Given the description of an element on the screen output the (x, y) to click on. 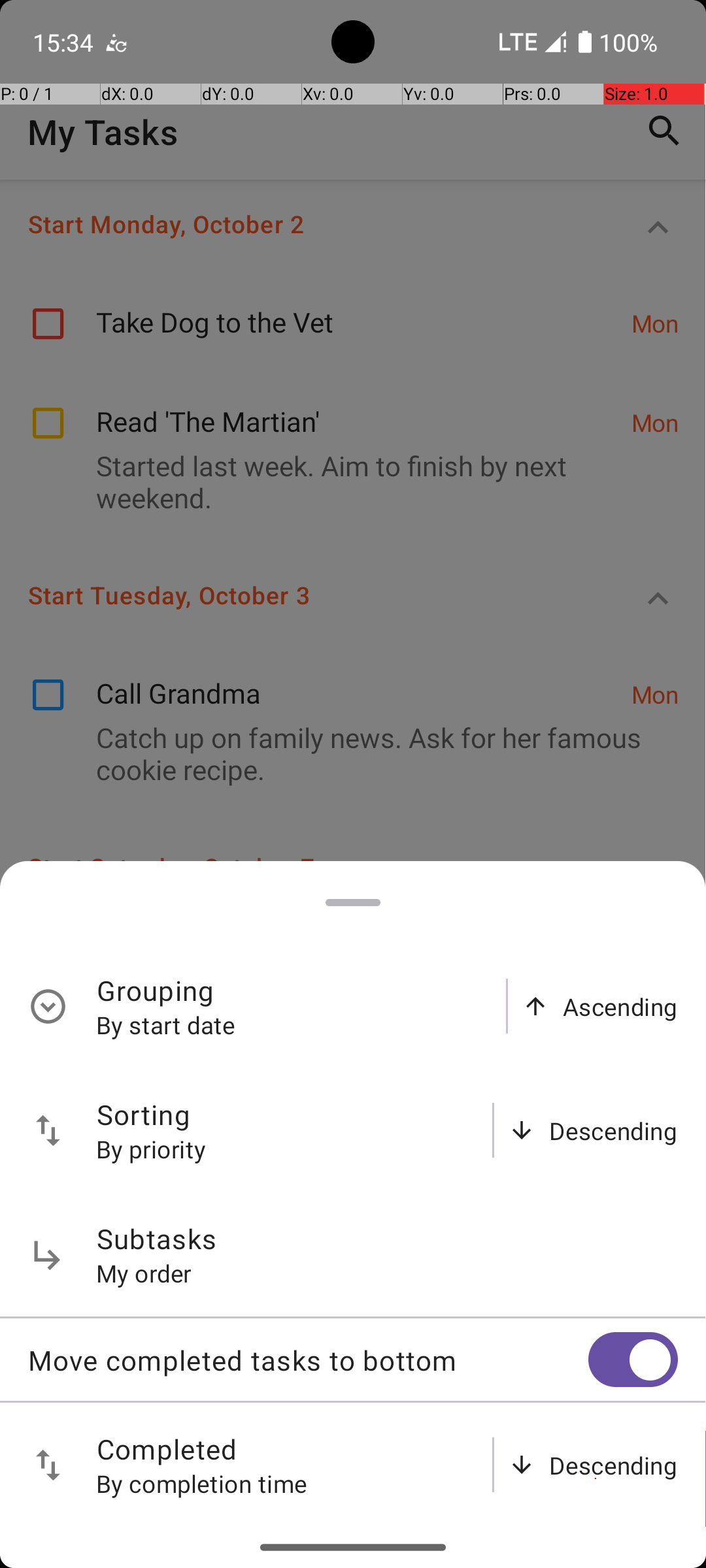
Drag handle Element type: android.view.View (352, 902)
Grouping Element type: android.widget.TextView (155, 989)
By start date Element type: android.widget.TextView (165, 1024)
Sorting Element type: android.widget.TextView (143, 1113)
By priority Element type: android.widget.TextView (151, 1148)
Subtasks Element type: android.widget.TextView (156, 1238)
My order Element type: android.widget.TextView (144, 1273)
Move completed tasks to bottom Element type: android.widget.TextView (307, 1359)
Completed Element type: android.widget.TextView (166, 1448)
By completion time Element type: android.widget.TextView (201, 1483)
Ascending Element type: android.widget.TextView (619, 1006)
Descending Element type: android.widget.TextView (613, 1130)
